Given the description of an element on the screen output the (x, y) to click on. 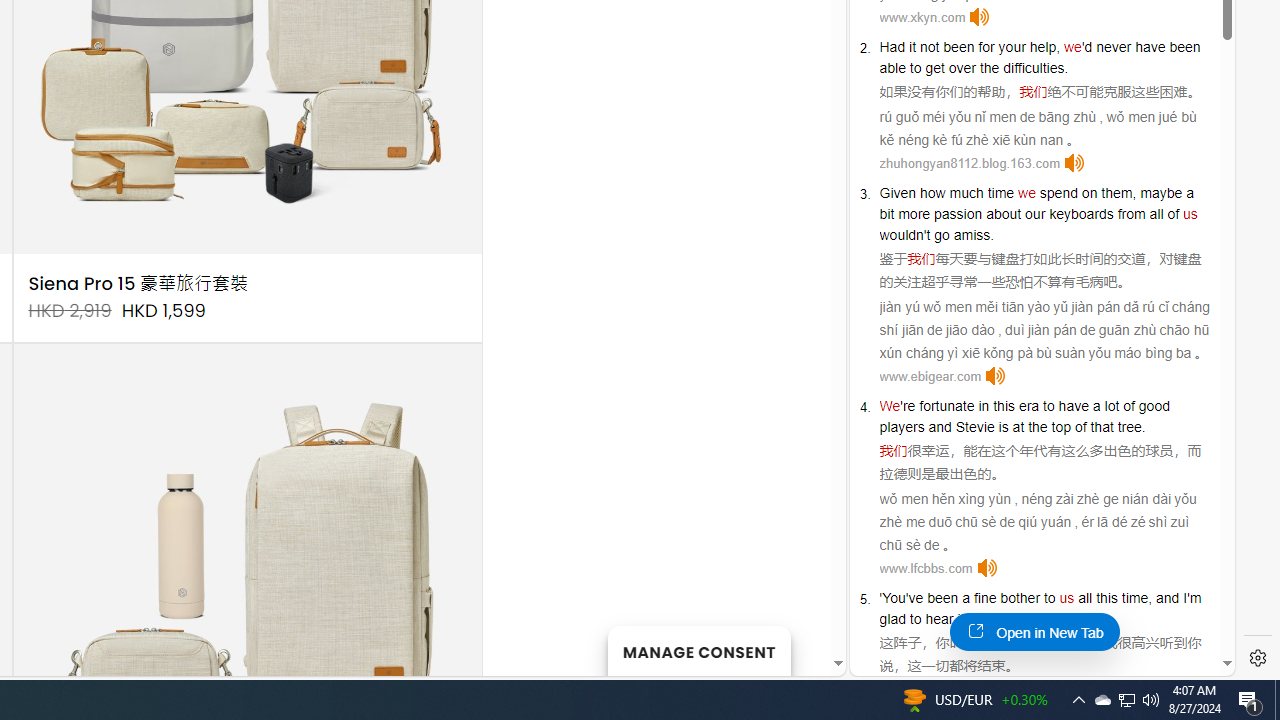
era (1028, 405)
www.ebigear.com (930, 375)
hear (939, 619)
good (1153, 405)
a (966, 597)
players (902, 426)
